Given the description of an element on the screen output the (x, y) to click on. 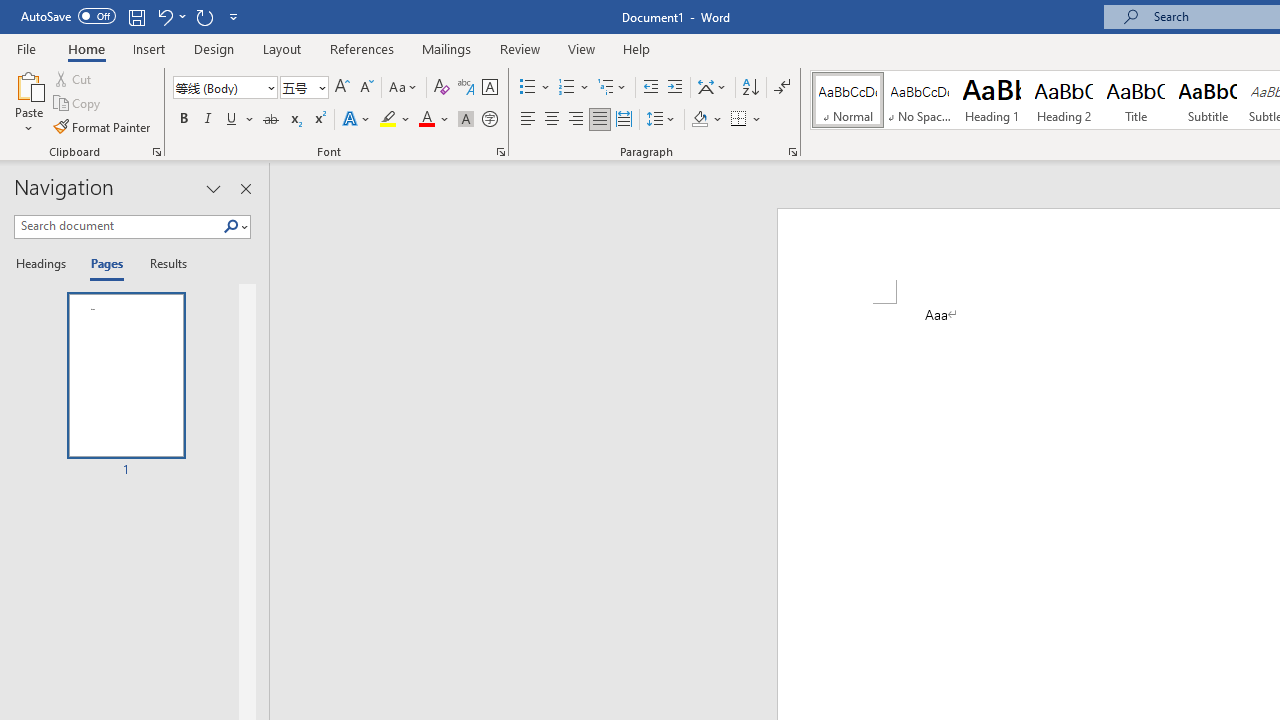
Heading 1 (991, 100)
Home (86, 48)
Paste (28, 102)
Results (161, 264)
Help (637, 48)
Font Size (304, 87)
Search (235, 227)
View (582, 48)
Borders (746, 119)
Layout (282, 48)
Shading RGB(0, 0, 0) (699, 119)
Paragraph... (792, 151)
Bold (183, 119)
Review (520, 48)
Headings (45, 264)
